Given the description of an element on the screen output the (x, y) to click on. 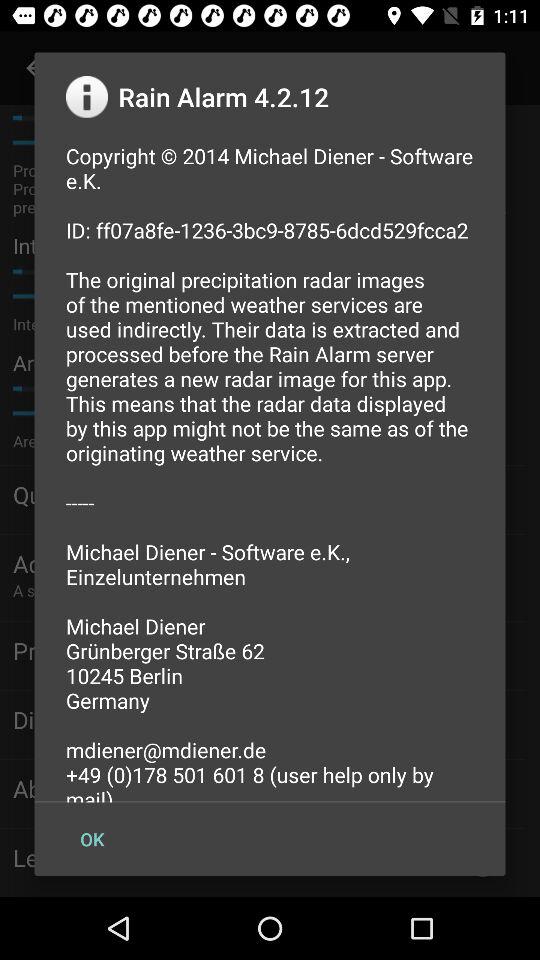
select item below the copyright 2014 michael icon (92, 838)
